Given the description of an element on the screen output the (x, y) to click on. 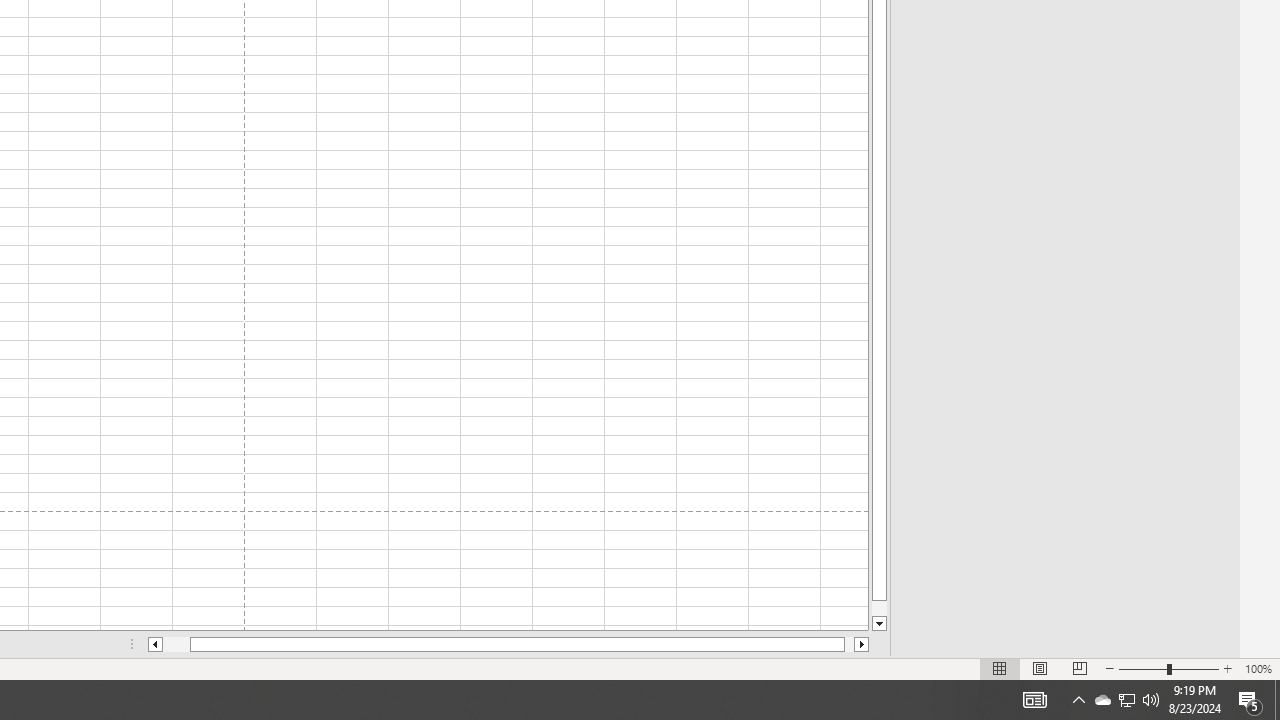
Page left (175, 644)
